Given the description of an element on the screen output the (x, y) to click on. 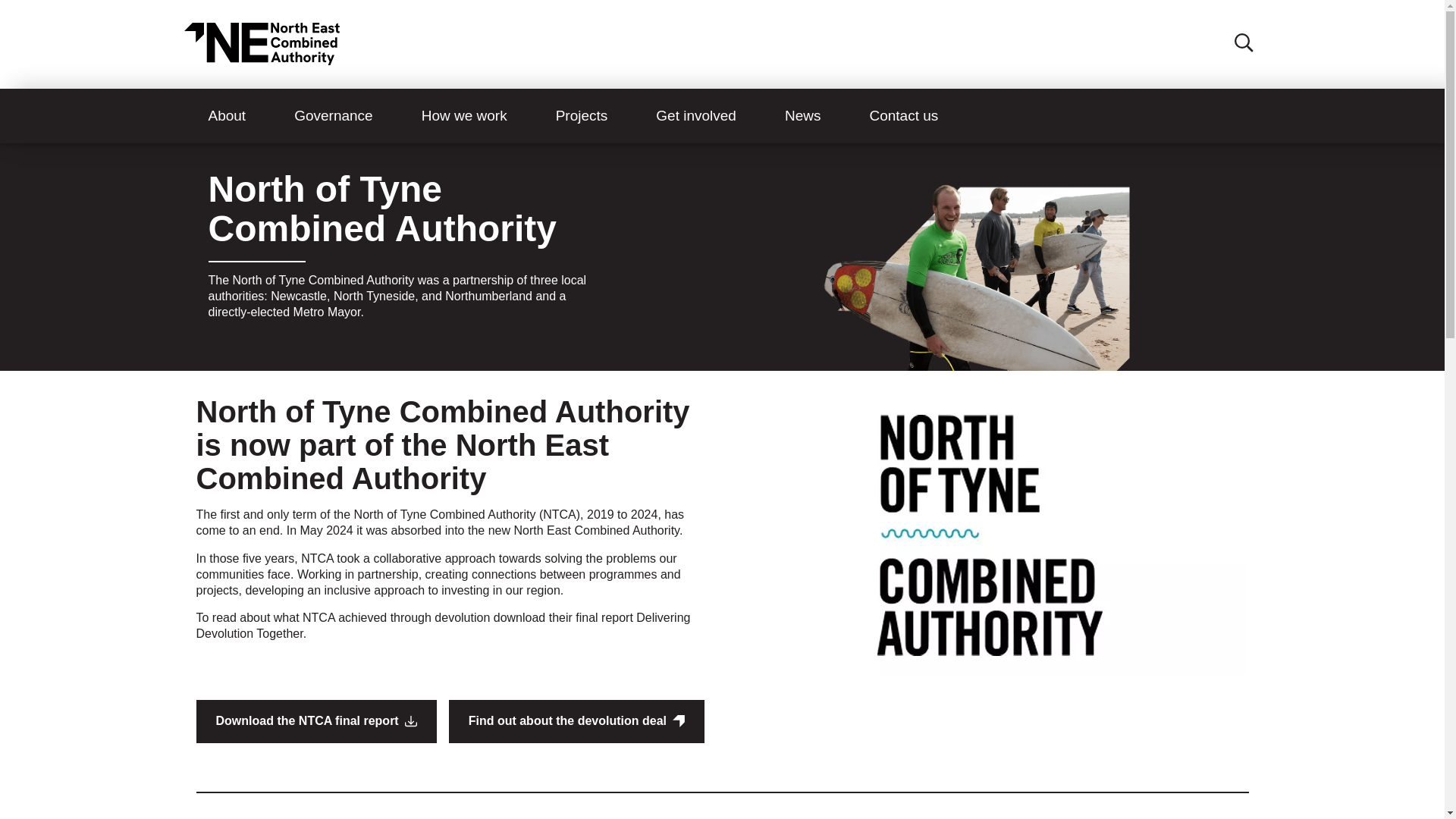
Get involved (695, 116)
Governance (333, 116)
News (802, 116)
Download the NTCA final report (315, 721)
Find out about the devolution deal (576, 721)
Projects (581, 116)
About (226, 116)
Contact us (903, 116)
How we work (464, 116)
